Given the description of an element on the screen output the (x, y) to click on. 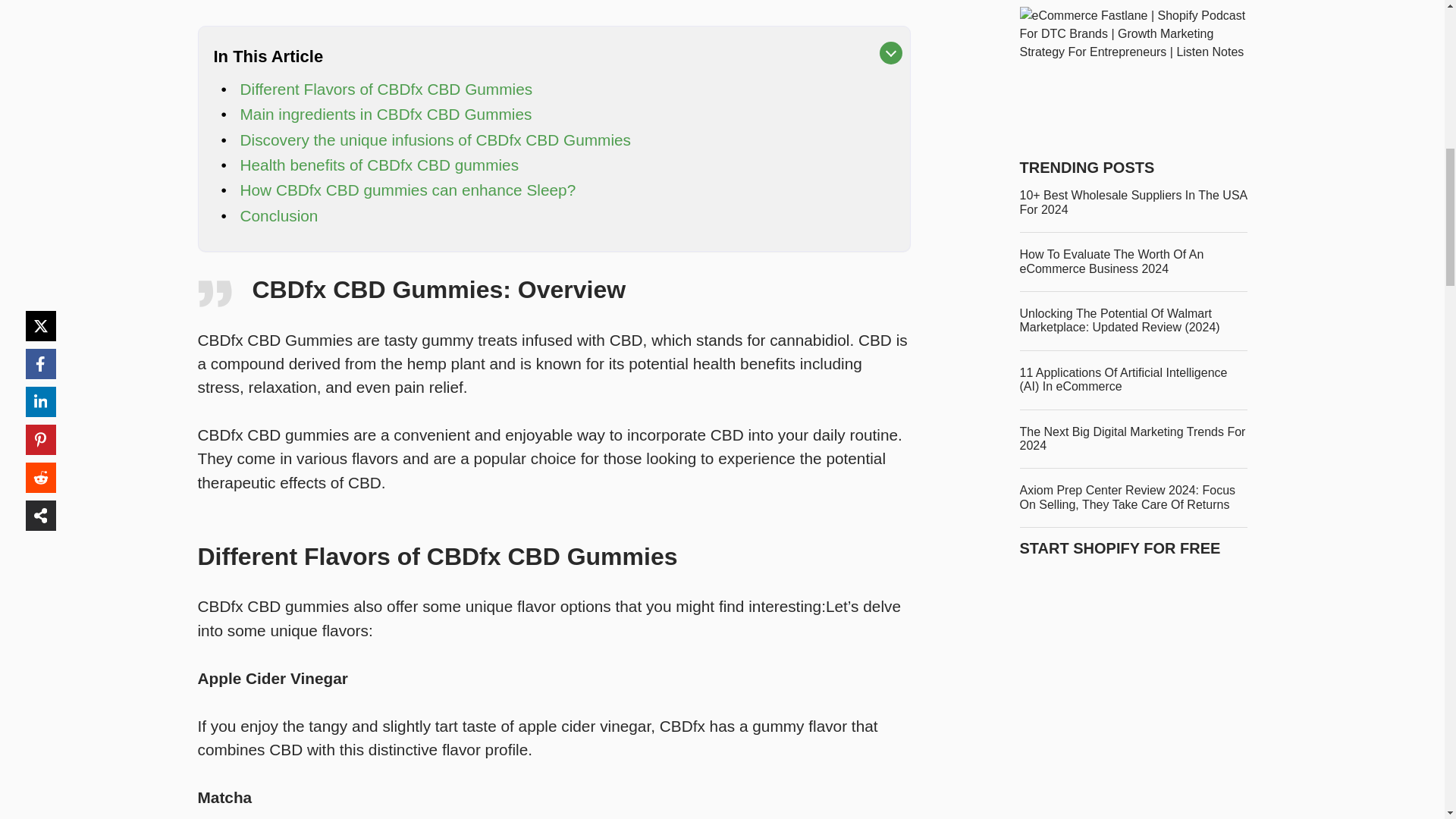
Health benefits of CBDfx CBD gummies (379, 164)
Main ingredients in CBDfx CBD Gummies (385, 113)
Conclusion (278, 215)
Discovery the unique infusions of CBDfx CBD Gummies (435, 139)
Different Flavors of CBDfx CBD Gummies (386, 88)
